Given the description of an element on the screen output the (x, y) to click on. 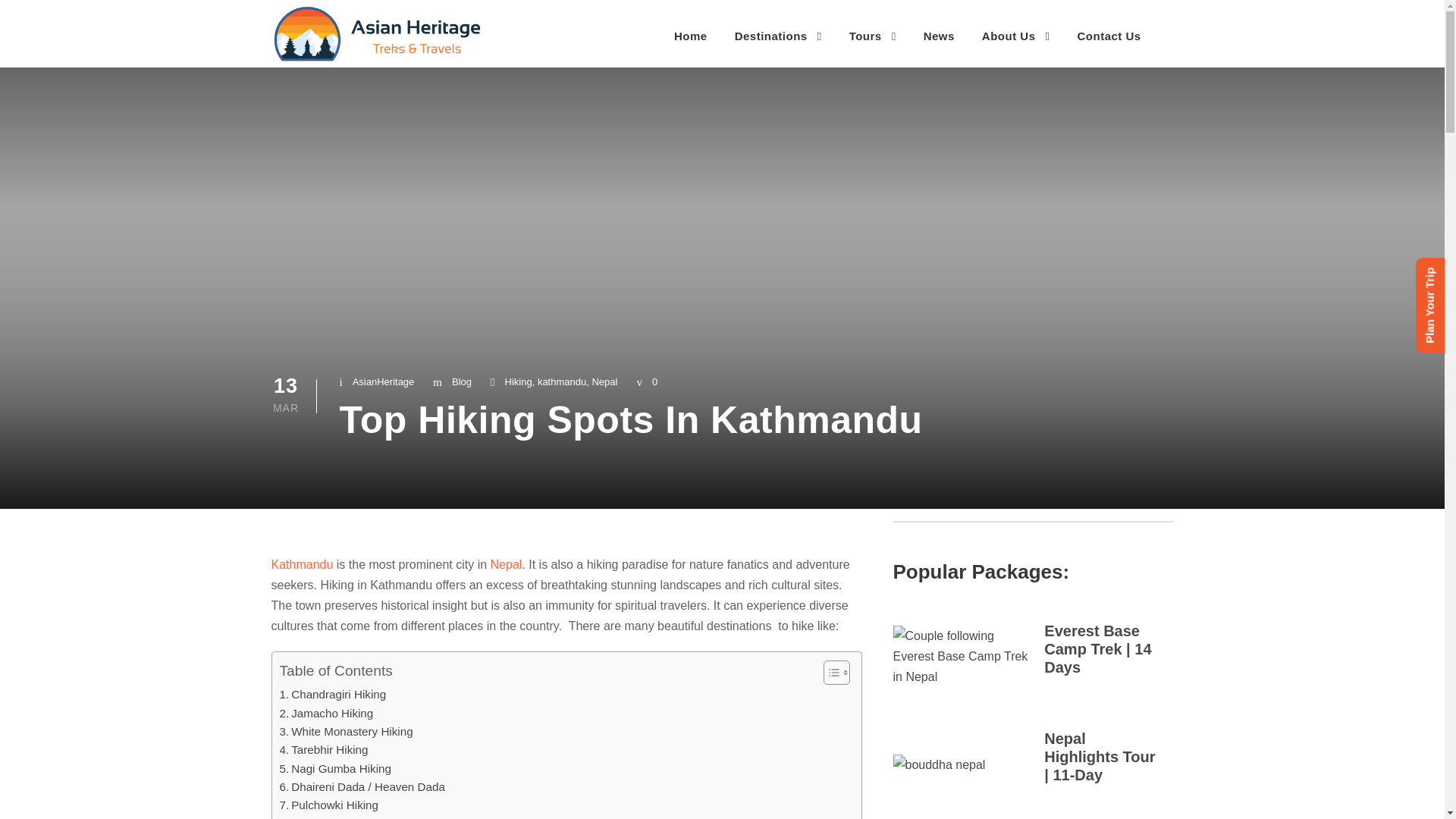
Chandragiri Hiking (332, 694)
White Monastery Hiking (345, 731)
Posts by AsianHeritage (383, 381)
Jamacho Hiking (325, 713)
Tarebhir Hiking (323, 750)
Home (690, 40)
Nagi Gumba Hiking (334, 769)
Asian-Heritage-treks-final-blue-orange-900px (376, 33)
Destinations (778, 40)
